Given the description of an element on the screen output the (x, y) to click on. 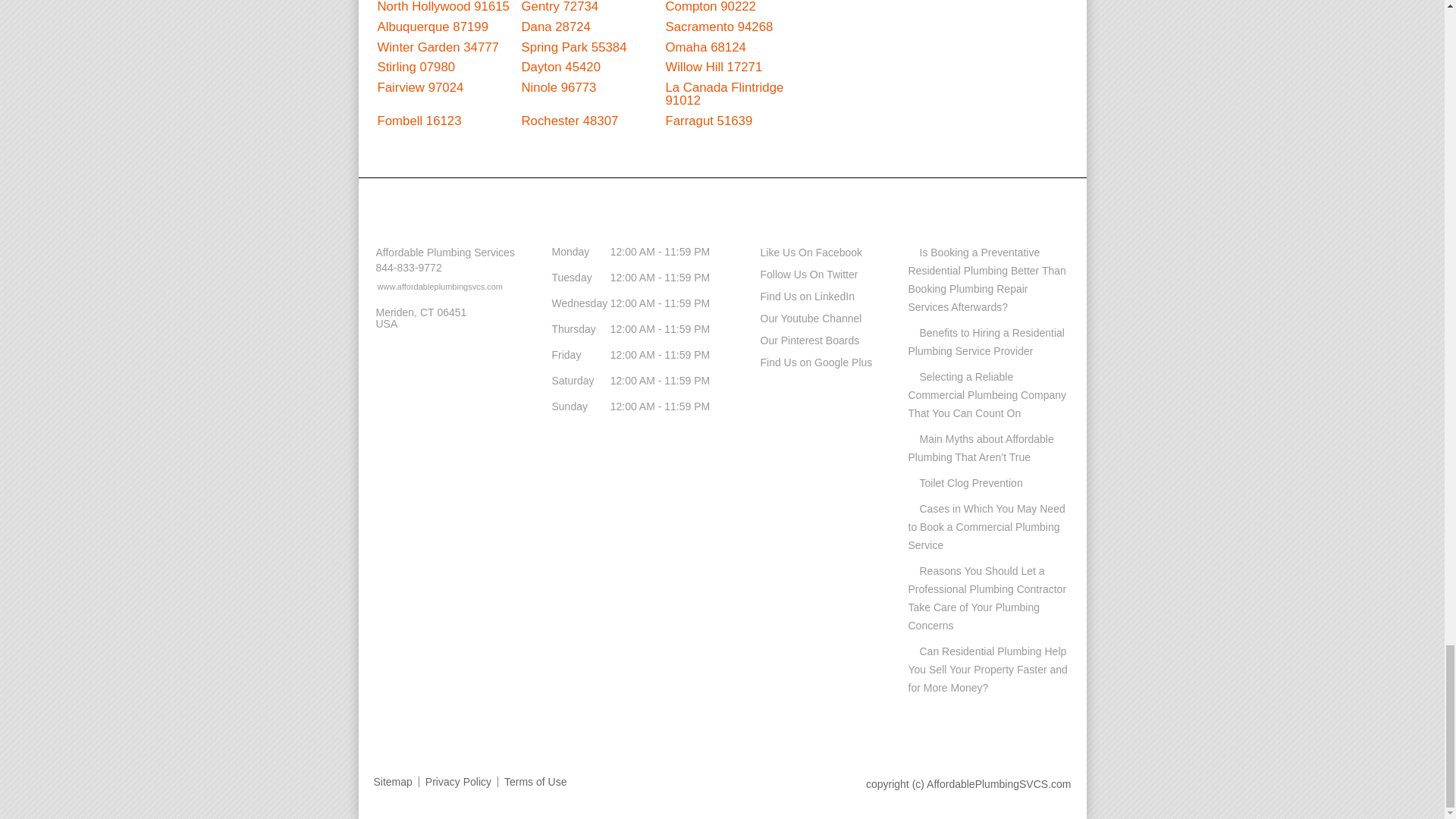
North Hollywood 91615 (443, 6)
Farragut 51639 (708, 120)
Spring Park 55384 (574, 47)
Sacramento 94268 (719, 26)
Stirling 07980 (416, 66)
Dayton 45420 (561, 66)
Omaha 68124 (705, 47)
Compton 90222 (710, 6)
Willow Hill 17271 (713, 66)
La Canada Flintridge 91012 (724, 93)
